Given the description of an element on the screen output the (x, y) to click on. 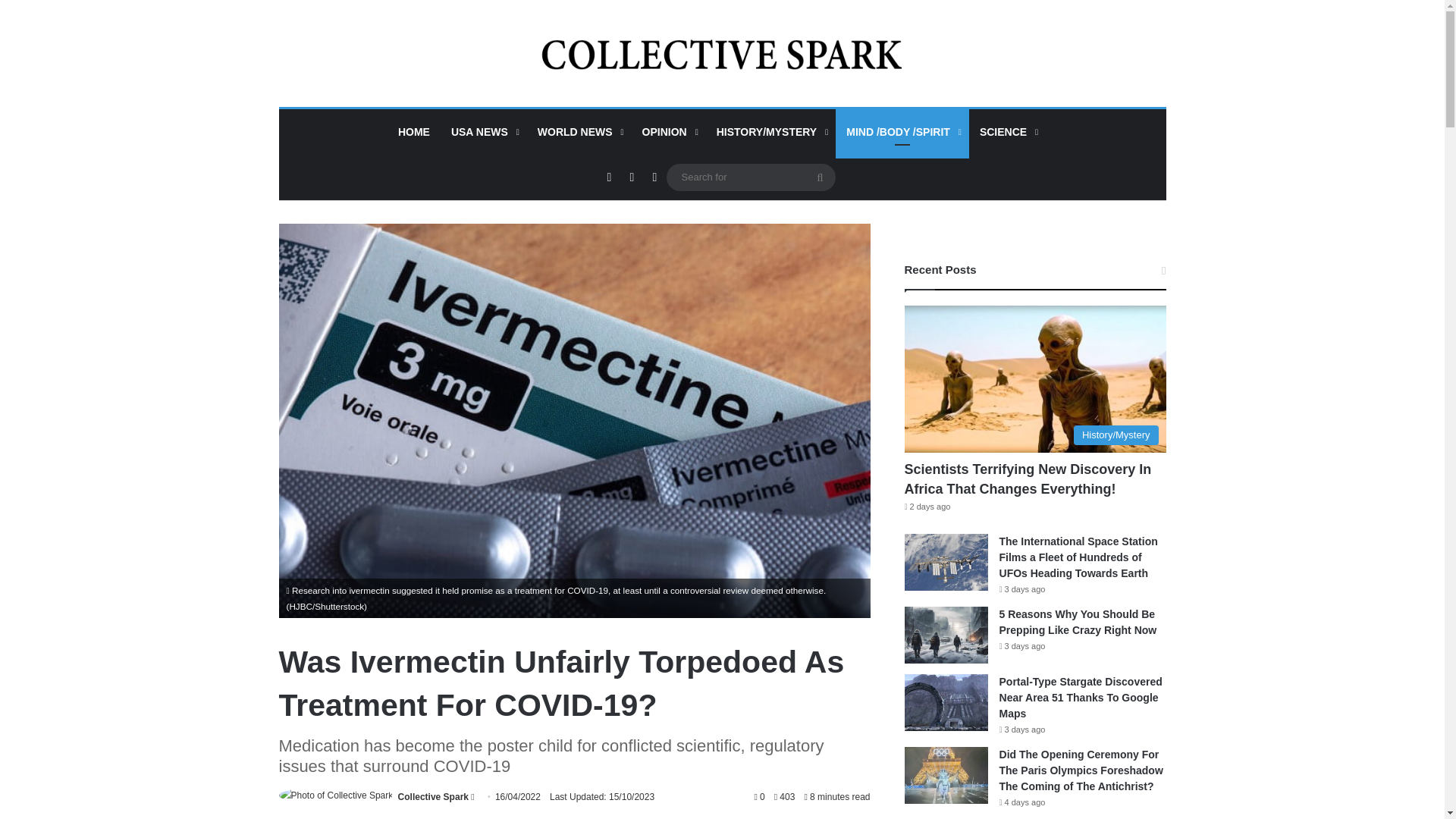
USA NEWS (484, 131)
Collective Spark (432, 796)
Collective Spark (722, 53)
HOME (414, 131)
OPINION (668, 131)
Search for (749, 176)
Search for (820, 176)
SCIENCE (1007, 131)
WORLD NEWS (579, 131)
Collective Spark (432, 796)
